Given the description of an element on the screen output the (x, y) to click on. 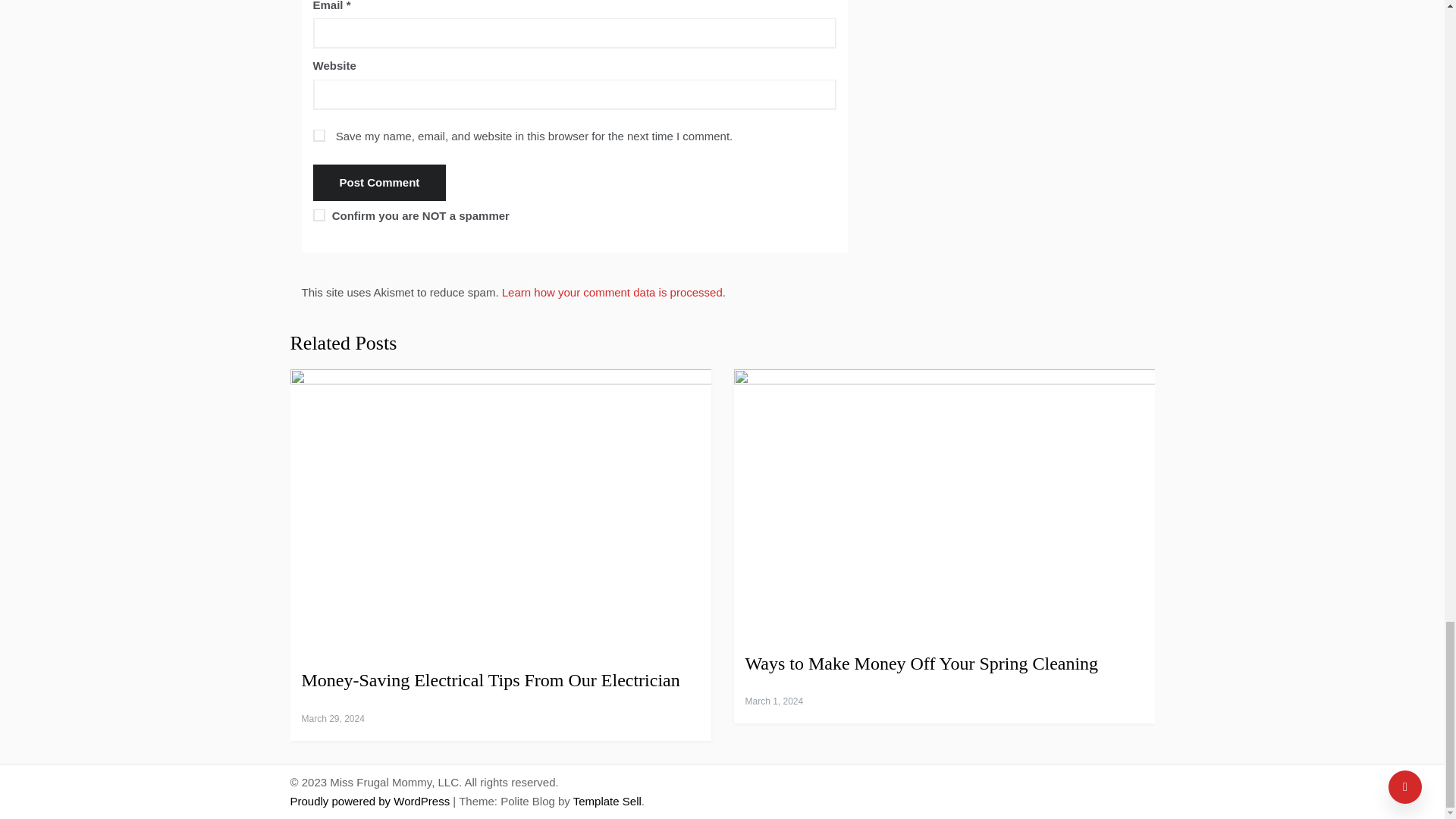
Learn how your comment data is processed (612, 291)
on (318, 215)
yes (318, 135)
Post Comment (379, 182)
Post Comment (379, 182)
